Given the description of an element on the screen output the (x, y) to click on. 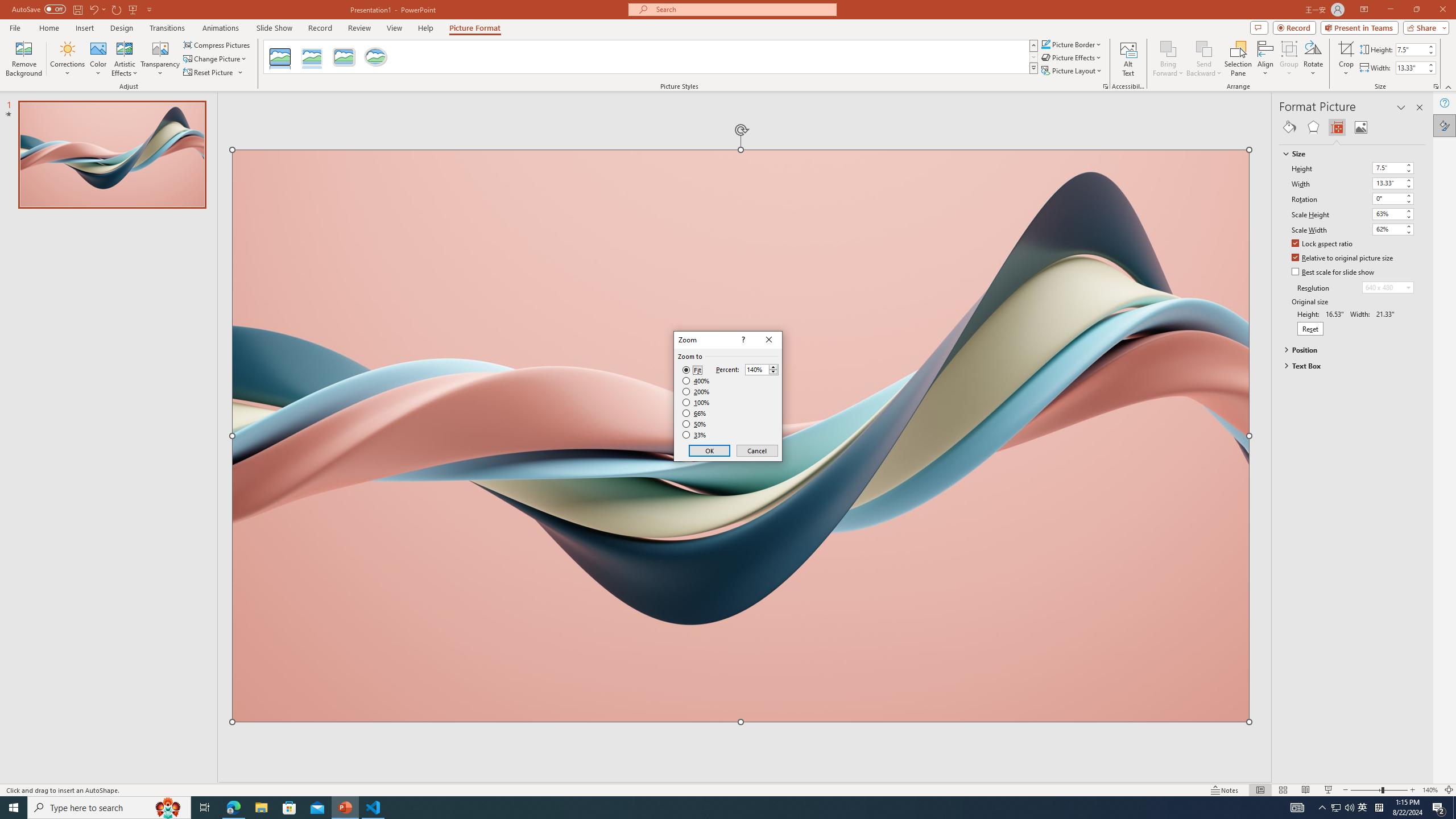
Format Picture (1444, 125)
Height (1388, 167)
Crop (1345, 48)
Zoom 140% (1430, 790)
Crop (1345, 58)
Rotation (1388, 198)
